Given the description of an element on the screen output the (x, y) to click on. 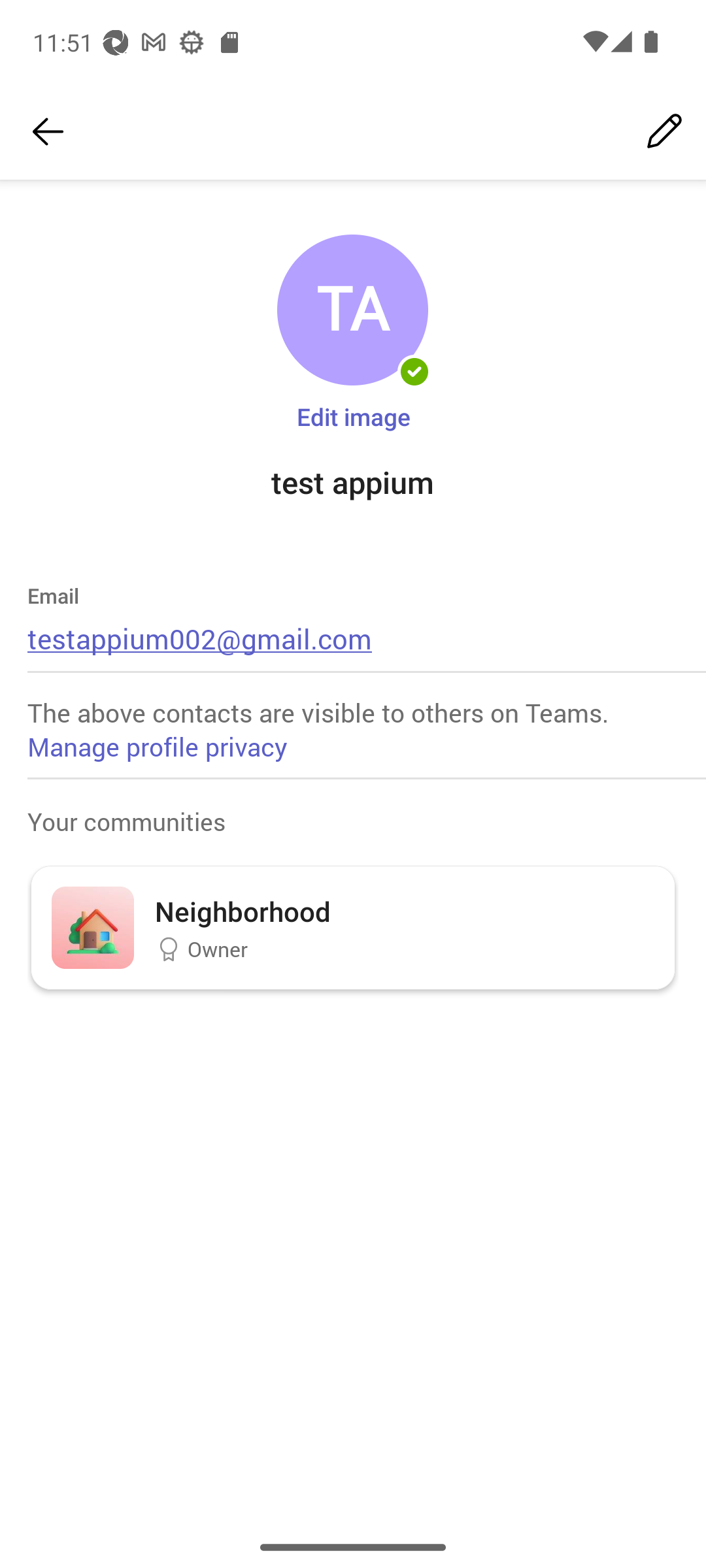
Back (48, 131)
Edit display name (664, 131)
test appium profile picture, Status: Available (352, 310)
Edit image (352, 415)
testappium002@gmail.com (199, 637)
